Given the description of an element on the screen output the (x, y) to click on. 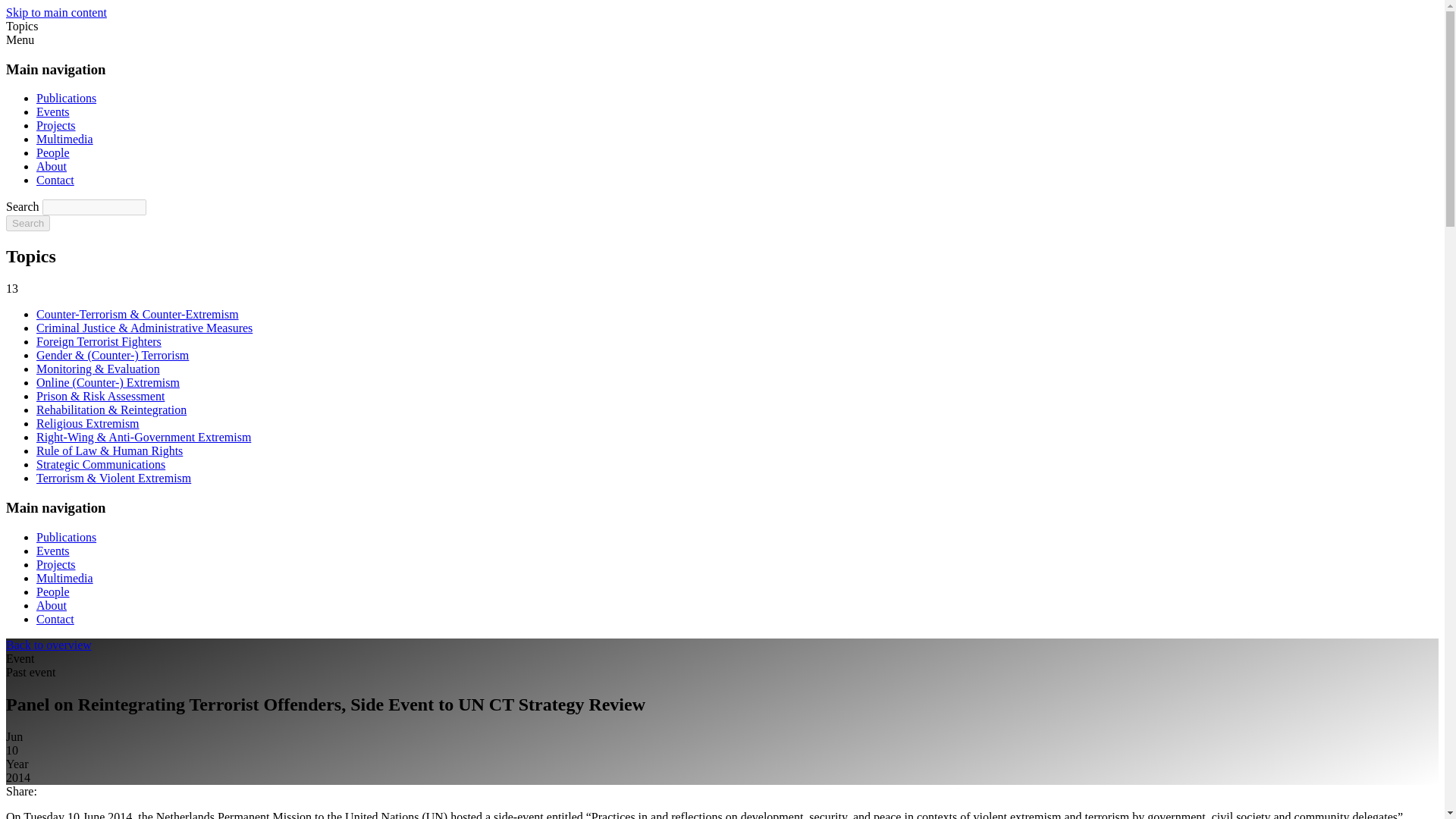
People (52, 591)
Skip to main content (55, 11)
Multimedia (64, 138)
Projects (55, 124)
About (51, 604)
About (51, 165)
Publications (66, 536)
Projects (55, 563)
Search (27, 222)
Contact (55, 179)
